Given the description of an element on the screen output the (x, y) to click on. 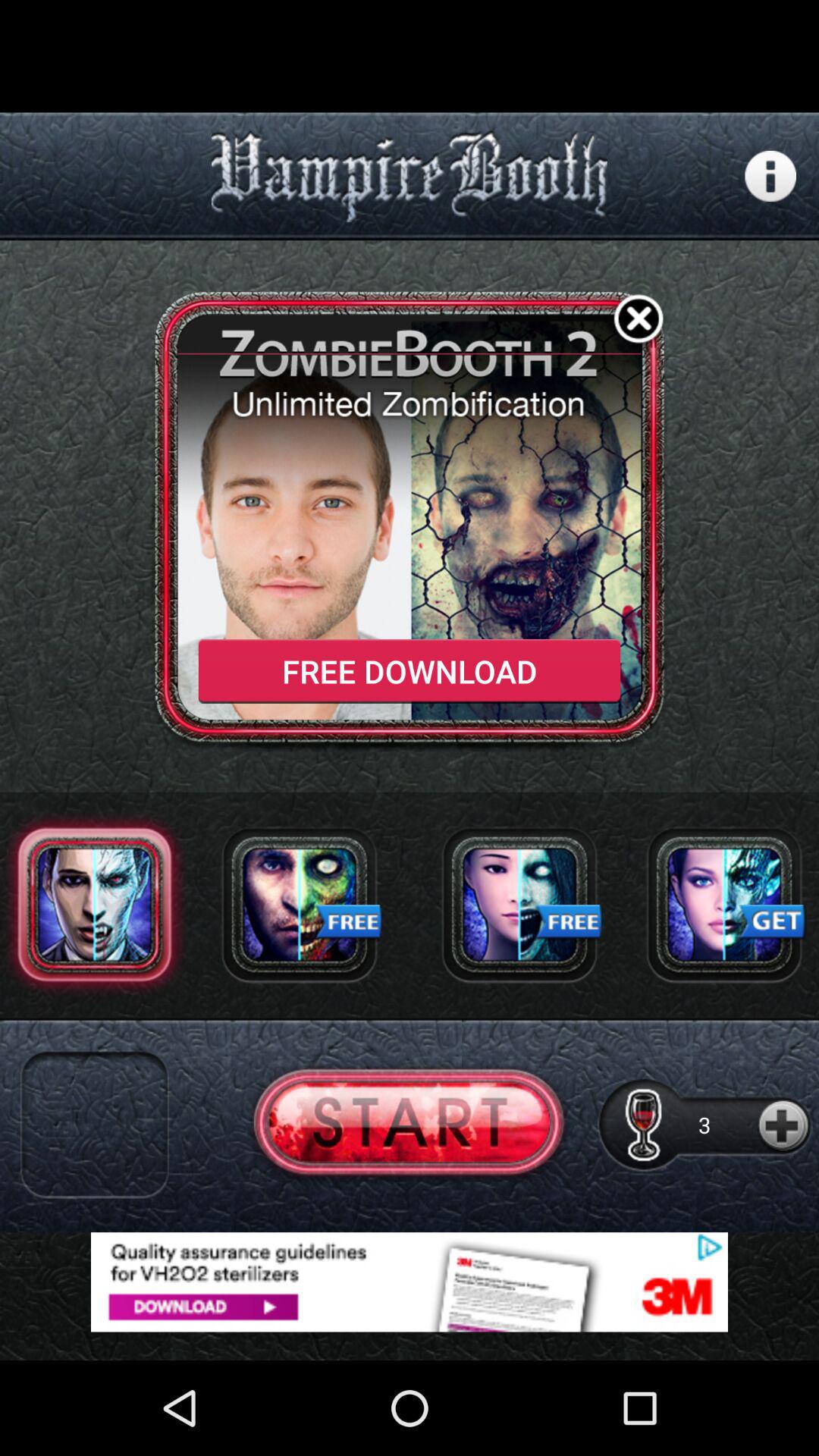
app selection (94, 1124)
